Given the description of an element on the screen output the (x, y) to click on. 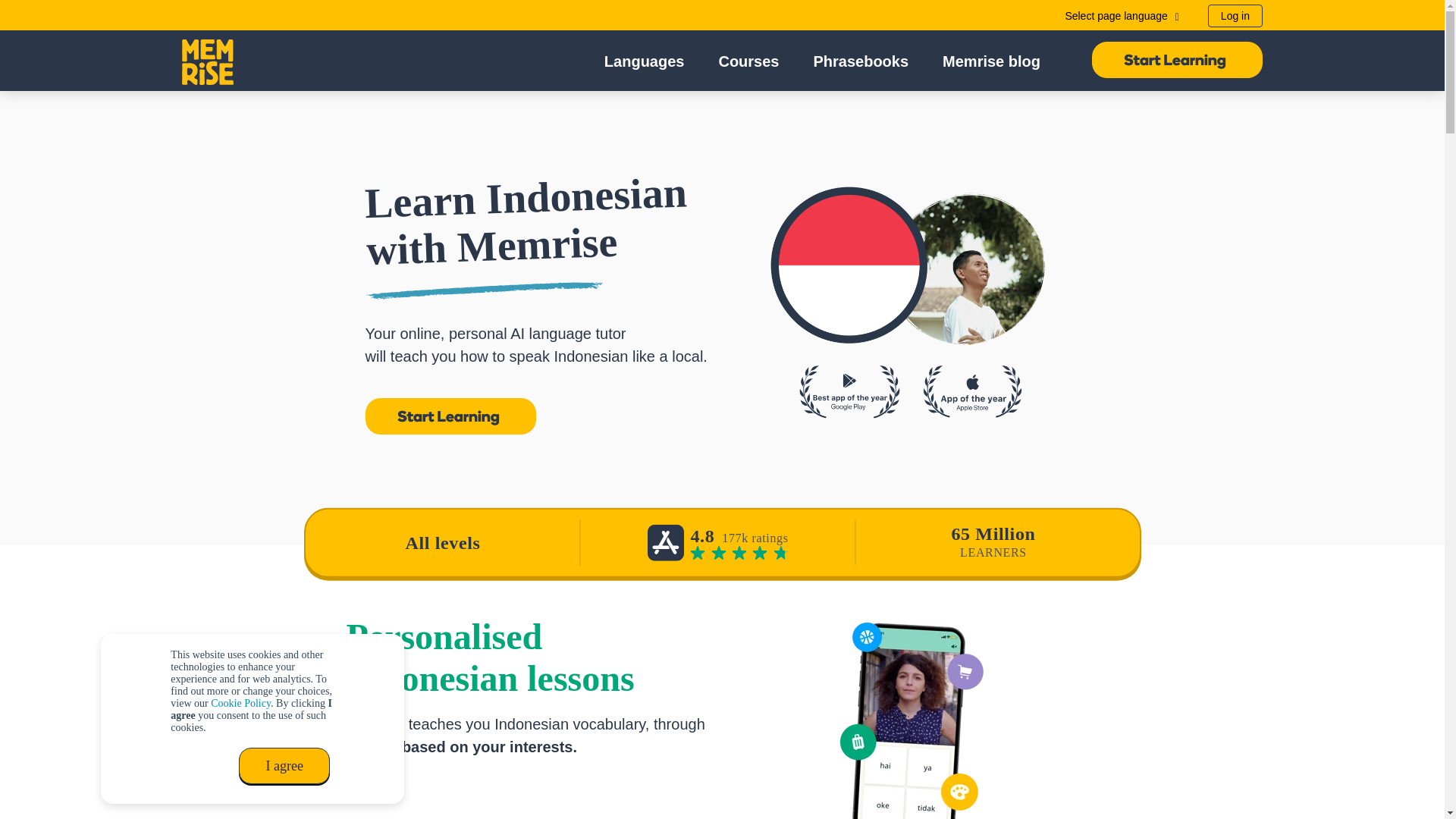
Cookie Policy (240, 703)
Home (207, 61)
Log in (1235, 15)
Courses (753, 61)
I agree (284, 765)
Languages (649, 61)
